Given the description of an element on the screen output the (x, y) to click on. 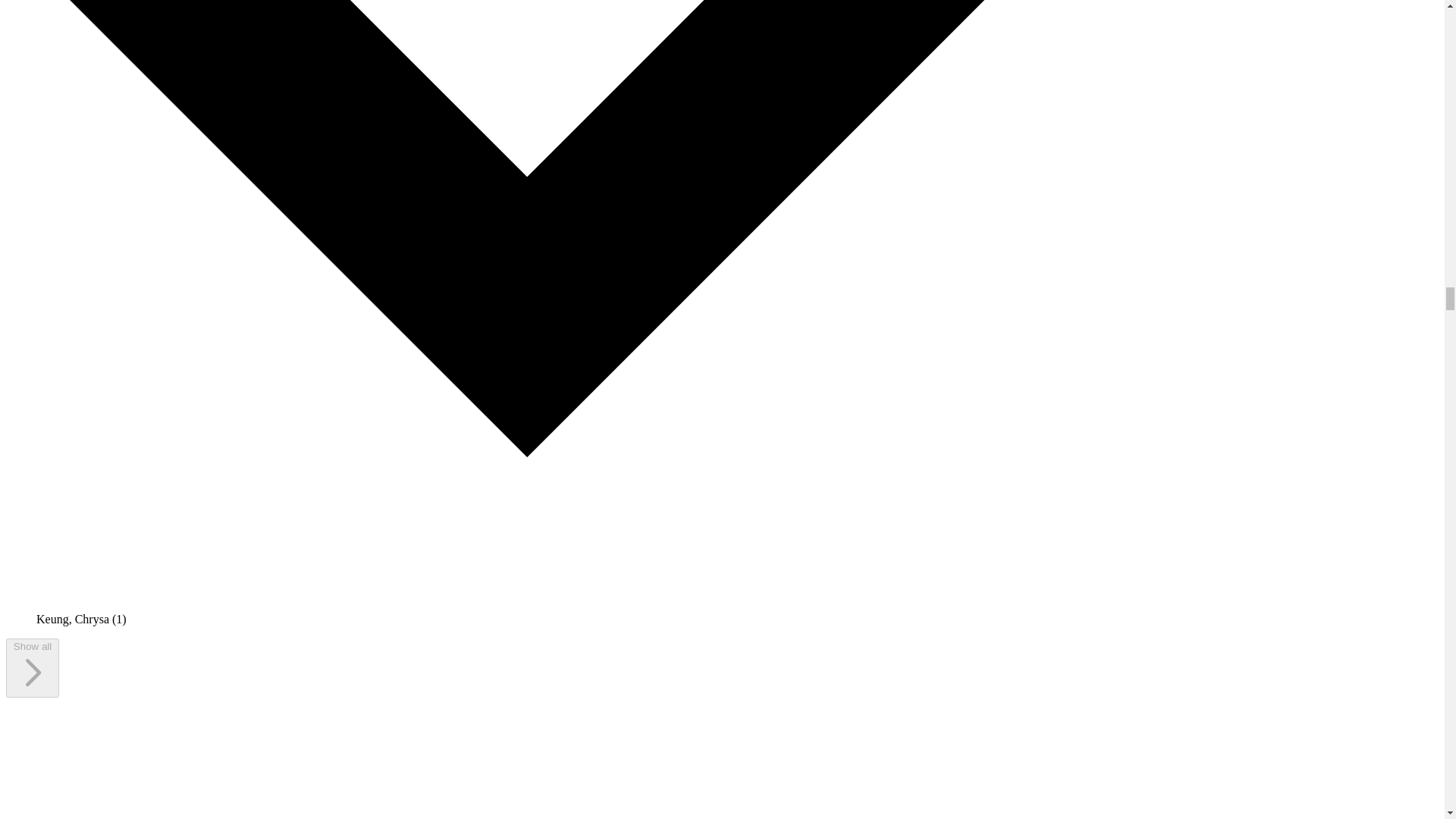
Show all (32, 667)
